Given the description of an element on the screen output the (x, y) to click on. 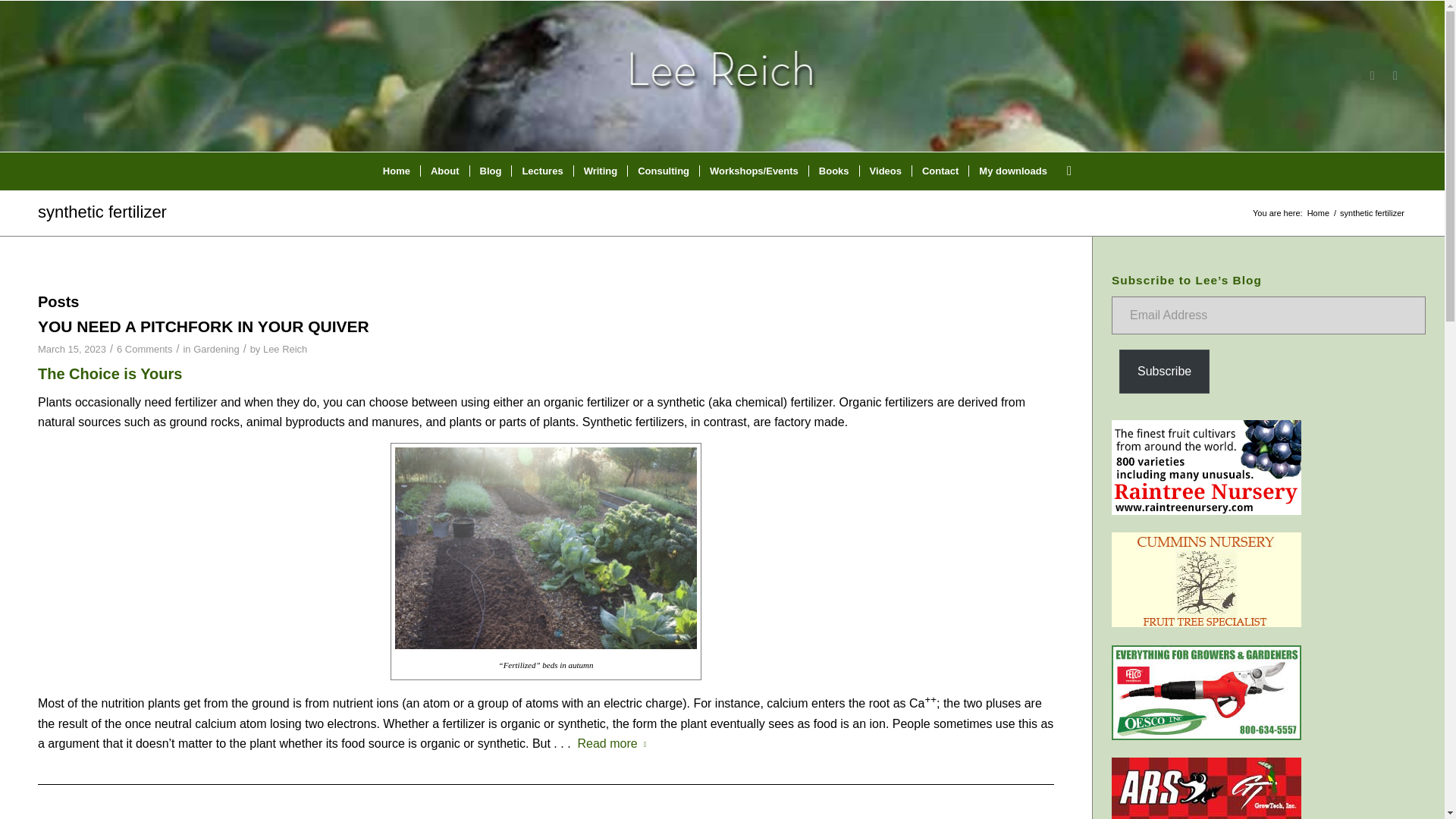
Gardening (216, 348)
Consulting (662, 171)
Home (1318, 213)
Subscribe (1164, 371)
About (444, 171)
Read more (615, 743)
6 Comments (143, 348)
Home (396, 171)
Contact (939, 171)
YOU NEED A PITCHFORK IN YOUR QUIVER (203, 325)
Books (833, 171)
Lee Reich (285, 348)
My downloads (1012, 171)
Lectures (541, 171)
Writing (600, 171)
